Given the description of an element on the screen output the (x, y) to click on. 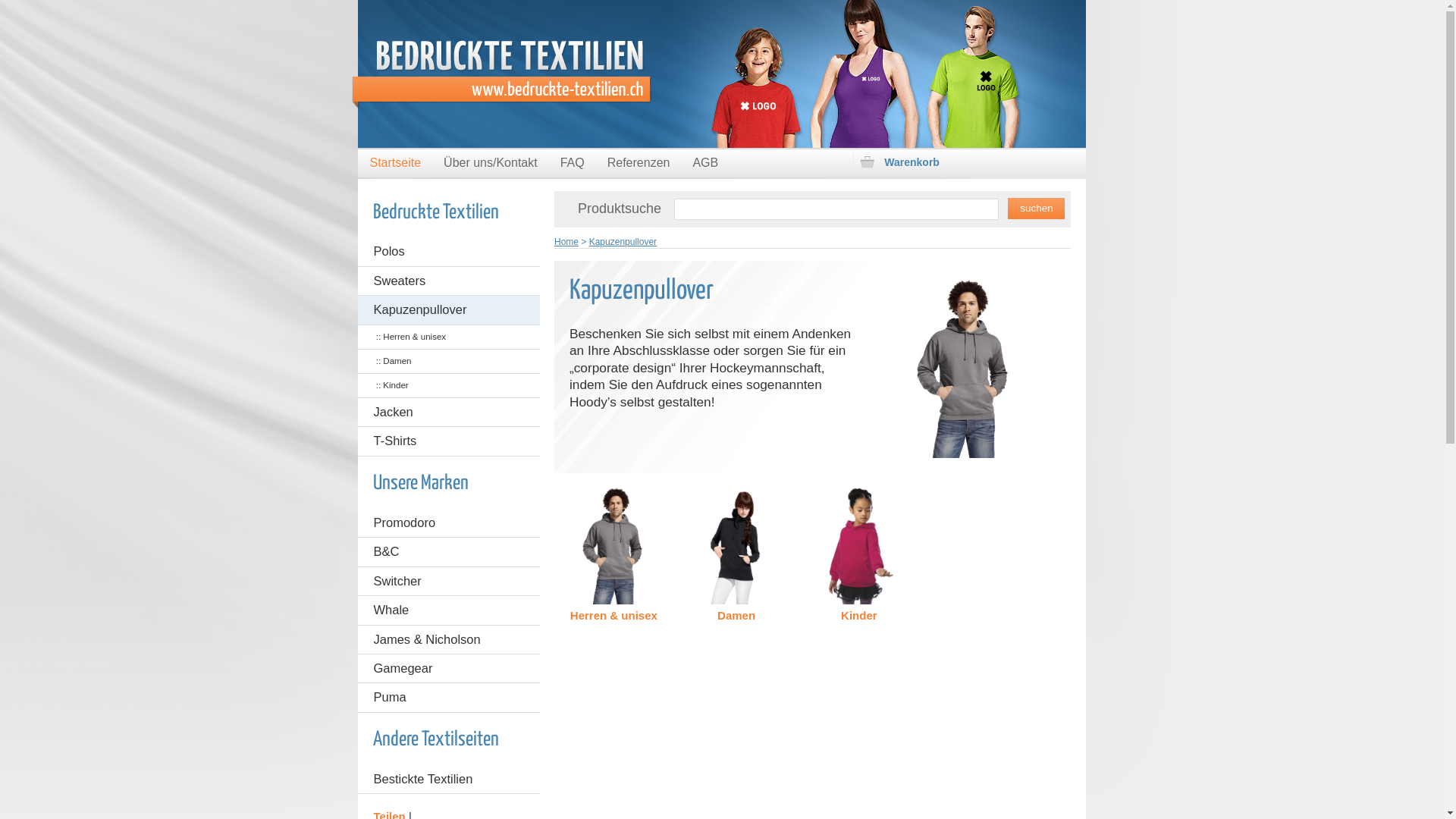
Startseite Element type: text (394, 163)
Home Element type: text (566, 241)
T-Shirts Element type: text (448, 440)
 :: Damen Element type: text (448, 361)
Switcher Element type: text (448, 581)
Kapuzenpullover Element type: text (622, 241)
Damen Element type: text (736, 553)
James & Nicholson Element type: text (448, 639)
Warenkorb Element type: text (966, 162)
 :: Kinder Element type: text (448, 385)
Bestickte Textilien Element type: text (448, 779)
Sweaters Element type: text (448, 280)
Kapuzenpullover Element type: text (448, 309)
Polos Element type: text (448, 251)
B&C Element type: text (448, 551)
Kinder Element type: text (858, 553)
Gamegear Element type: text (448, 668)
AGB Element type: text (704, 163)
Puma Element type: text (448, 697)
Promodoro Element type: text (448, 522)
Jacken Element type: text (448, 412)
Referenzen Element type: text (638, 163)
FAQ Element type: text (572, 163)
suchen Element type: text (1035, 208)
 :: Herren & unisex Element type: text (448, 336)
Whale Element type: text (448, 610)
Herren & unisex Element type: text (613, 553)
